Given the description of an element on the screen output the (x, y) to click on. 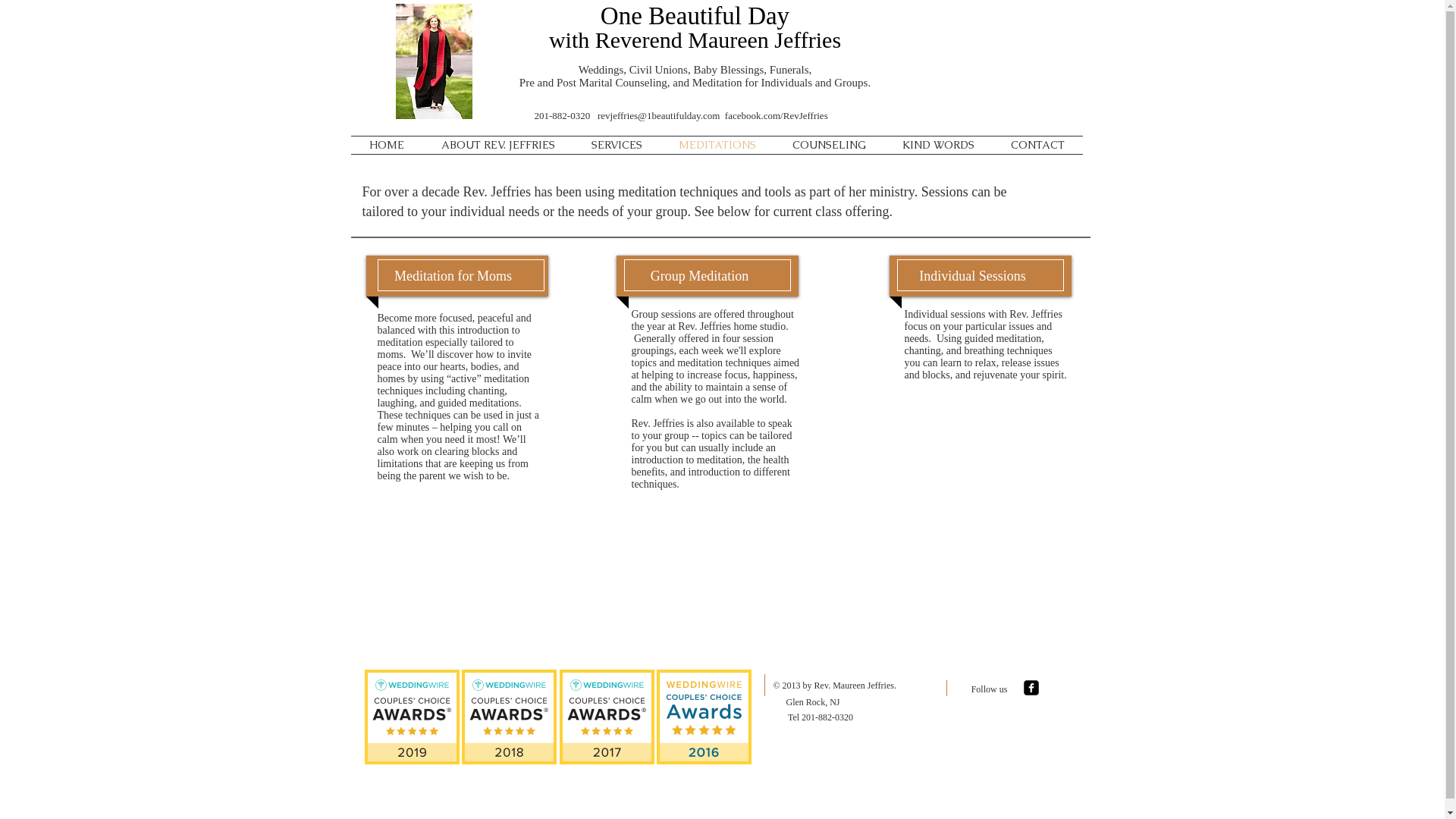
Embedded Content Element type: hover (617, 716)
SERVICES Element type: text (616, 144)
revjeffries@1beautifulday.com Element type: text (658, 115)
Embedded Content Element type: hover (711, 716)
KIND WORDS Element type: text (938, 144)
Embedded Content Element type: hover (416, 725)
Embedded Content Element type: hover (514, 716)
HOME Element type: text (386, 144)
ABOUT REV. JEFFRIES Element type: text (498, 144)
CONTACT Element type: text (1036, 144)
COUNSELING Element type: text (828, 144)
MEDITATIONS Element type: text (716, 144)
Maureen at Pleasantdale Chateau.jpg Element type: hover (433, 61)
